Given the description of an element on the screen output the (x, y) to click on. 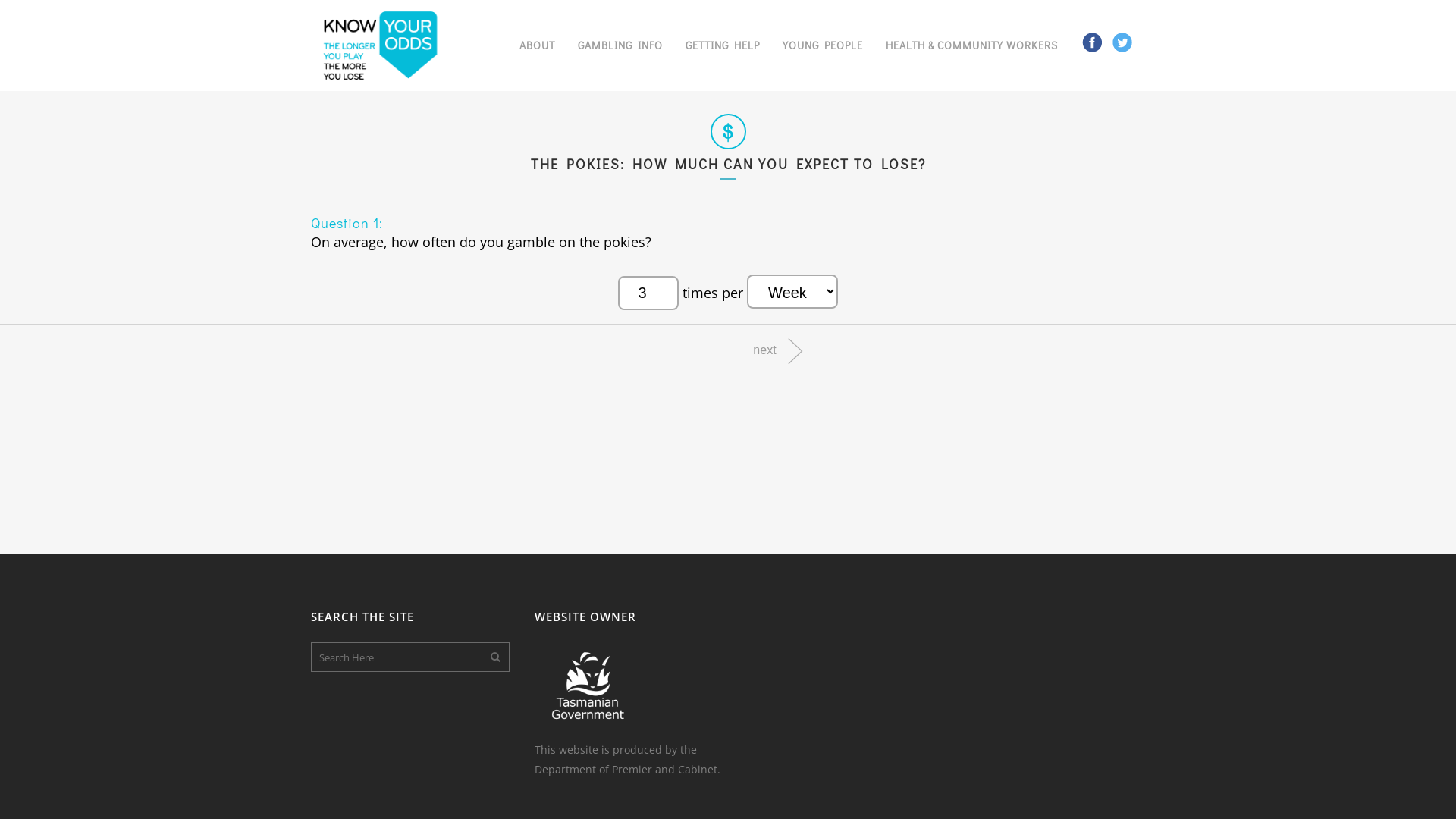
ABOUT Element type: text (537, 45)
Submit Element type: text (21, 7)
YOUNG PEOPLE Element type: text (822, 45)
HEALTH & COMMUNITY WORKERS Element type: text (971, 45)
next Element type: text (777, 350)
GAMBLING INFO Element type: text (620, 45)
GETTING HELP Element type: text (722, 45)
